Given the description of an element on the screen output the (x, y) to click on. 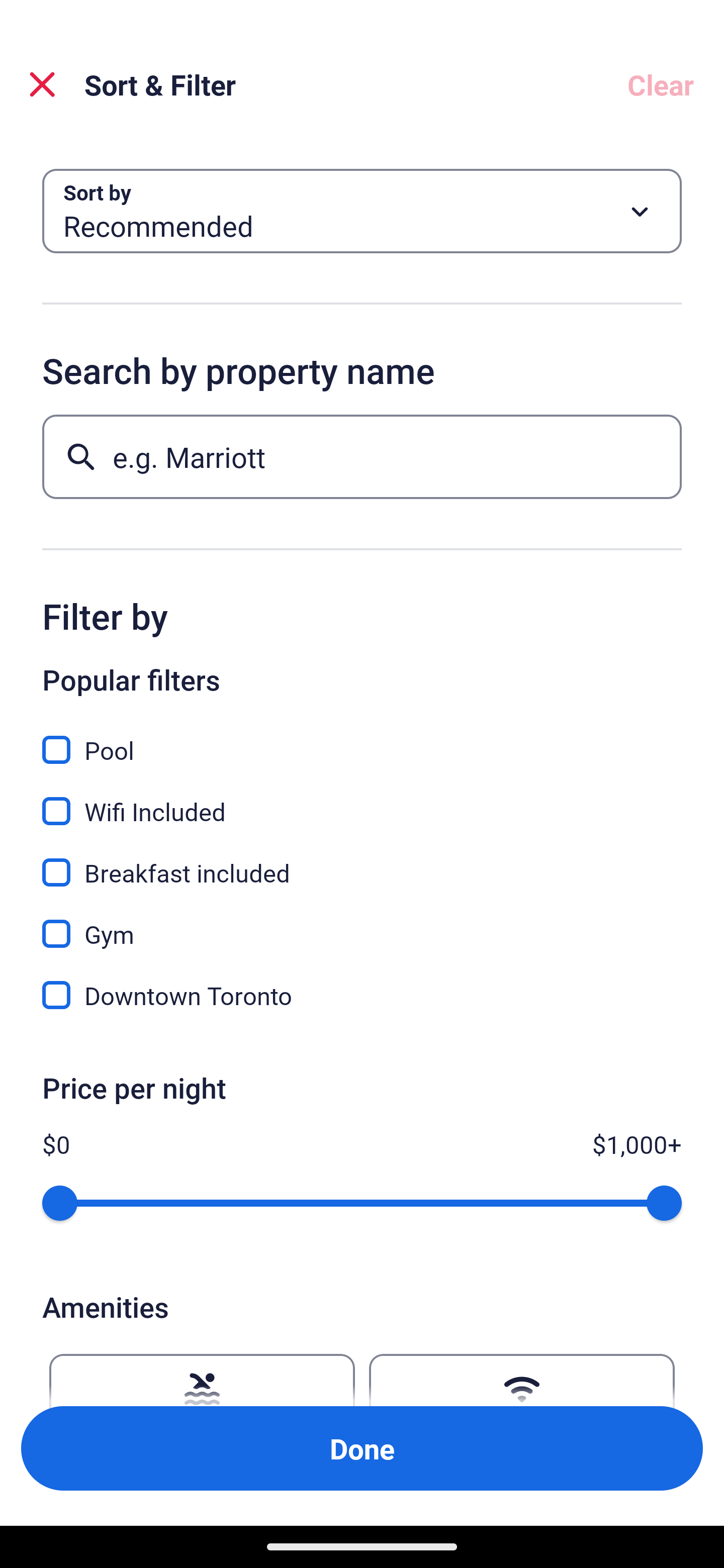
Close Sort and Filter (42, 84)
Clear (660, 84)
Sort by Button Recommended (361, 211)
e.g. Marriott Button (361, 455)
Pool, Pool (361, 738)
Wifi Included, Wifi Included (361, 800)
Breakfast included, Breakfast included (361, 861)
Gym, Gym (361, 922)
Downtown Toronto, Downtown Toronto (361, 995)
Apply and close Sort and Filter Done (361, 1448)
